Given the description of an element on the screen output the (x, y) to click on. 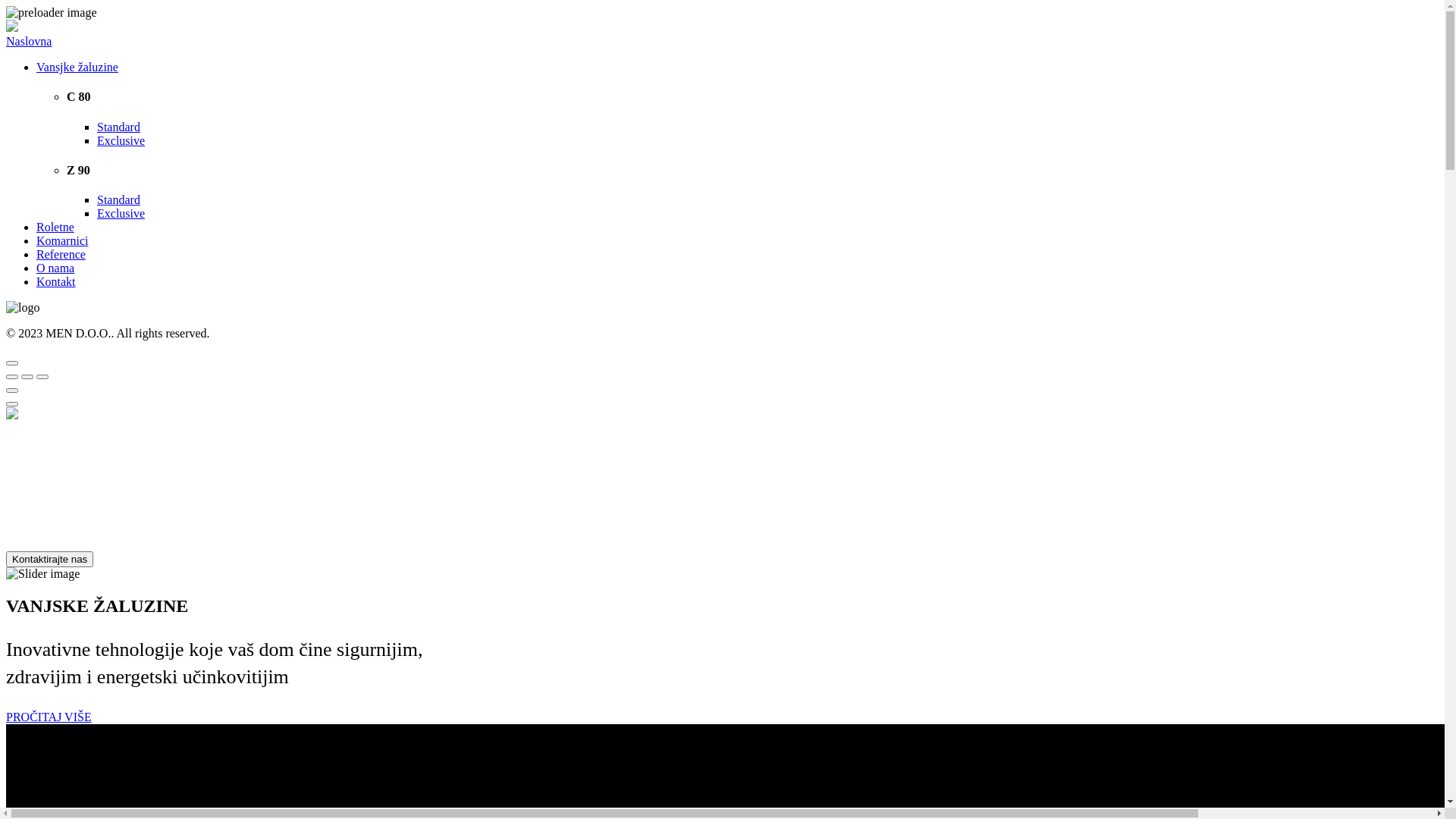
Roletne Element type: text (55, 226)
Exclusive Element type: text (120, 213)
O nama Element type: text (55, 267)
Standard Element type: text (118, 199)
Kontaktirajte nas Element type: text (49, 558)
Naslovna Element type: text (28, 40)
Standard Element type: text (118, 126)
Exclusive Element type: text (120, 140)
Kontakt Element type: text (55, 281)
Reference Element type: text (60, 253)
Kontaktirajte nas Element type: text (49, 559)
Komarnici Element type: text (61, 240)
